Given the description of an element on the screen output the (x, y) to click on. 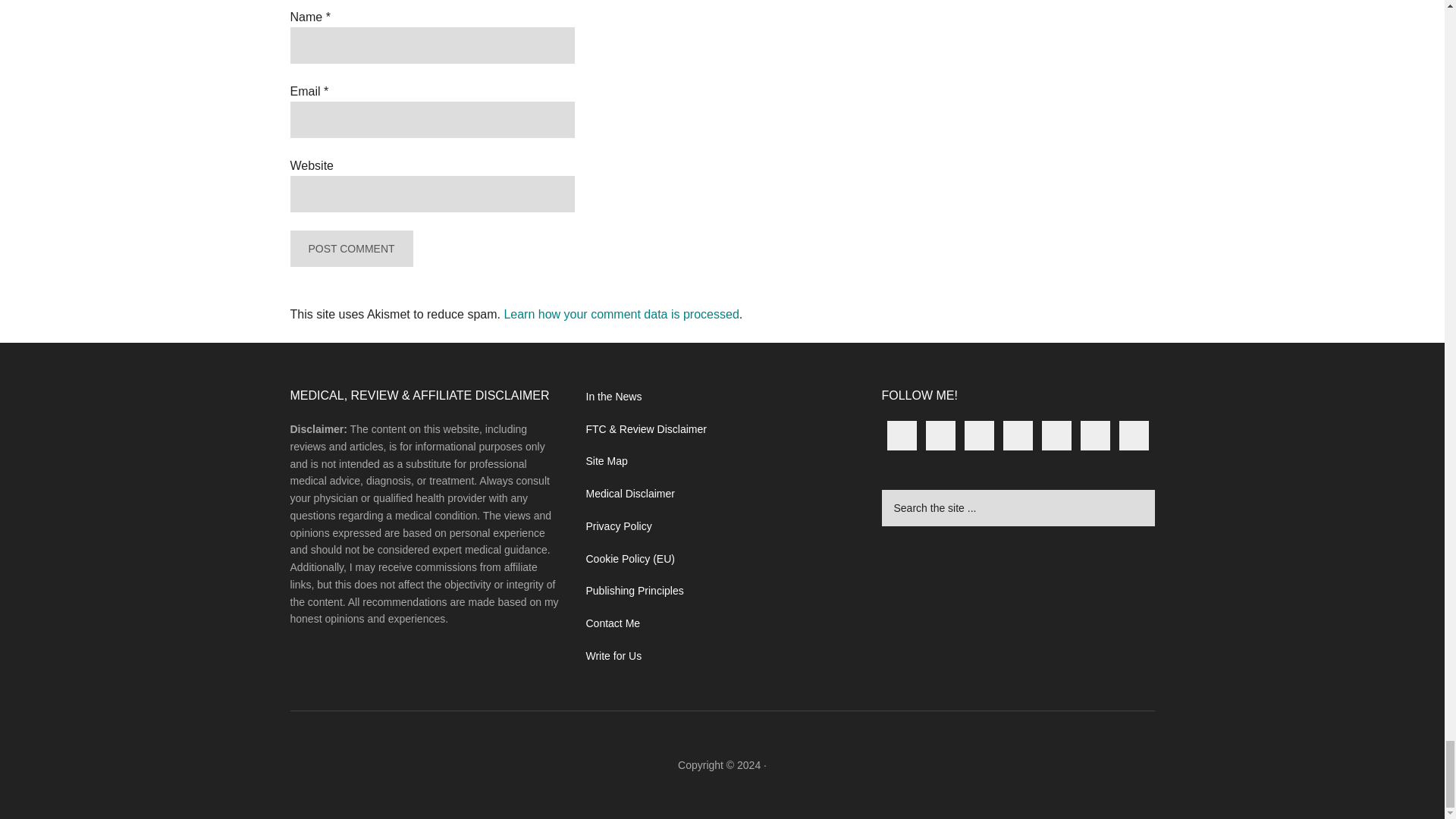
Post Comment (350, 248)
